Given the description of an element on the screen output the (x, y) to click on. 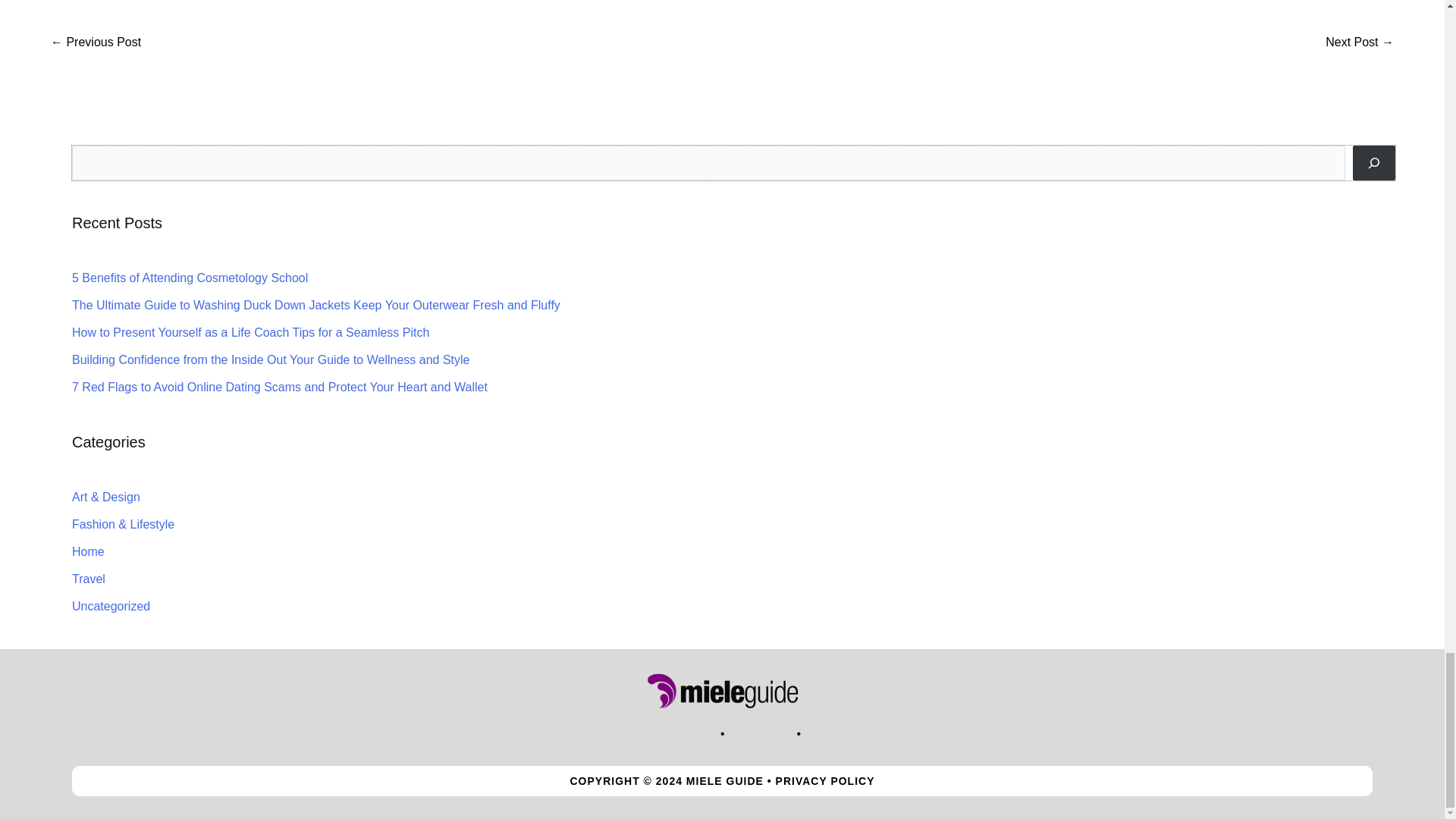
Wellness Routines to Enjoy Your Senior Years (95, 43)
Teeth Grinding: Causes, Symptoms, and Treatments (1358, 43)
Uncategorized (110, 605)
Home (87, 551)
5 Benefits of Attending Cosmetology School (189, 277)
Travel (87, 578)
